Given the description of an element on the screen output the (x, y) to click on. 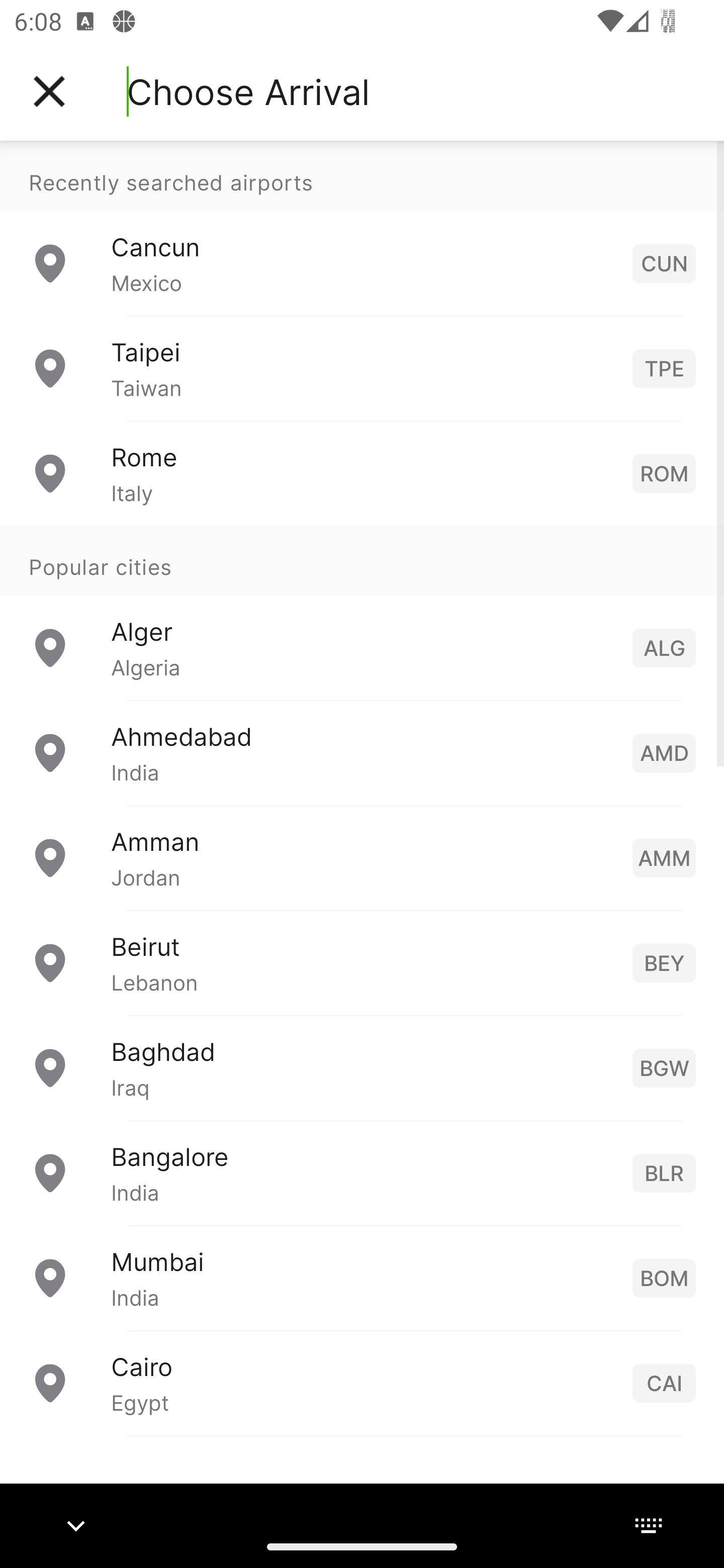
Choose Arrival (247, 91)
Recently searched airports Cancun Mexico CUN (362, 228)
Recently searched airports (362, 176)
Taipei Taiwan TPE (362, 367)
Rome Italy ROM (362, 472)
Popular cities Alger Algeria ALG (362, 612)
Popular cities (362, 560)
Ahmedabad India AMD (362, 751)
Amman Jordan AMM (362, 856)
Beirut Lebanon BEY (362, 961)
Baghdad Iraq BGW (362, 1066)
Bangalore India BLR (362, 1171)
Mumbai India BOM (362, 1276)
Cairo Egypt CAI (362, 1381)
